Given the description of an element on the screen output the (x, y) to click on. 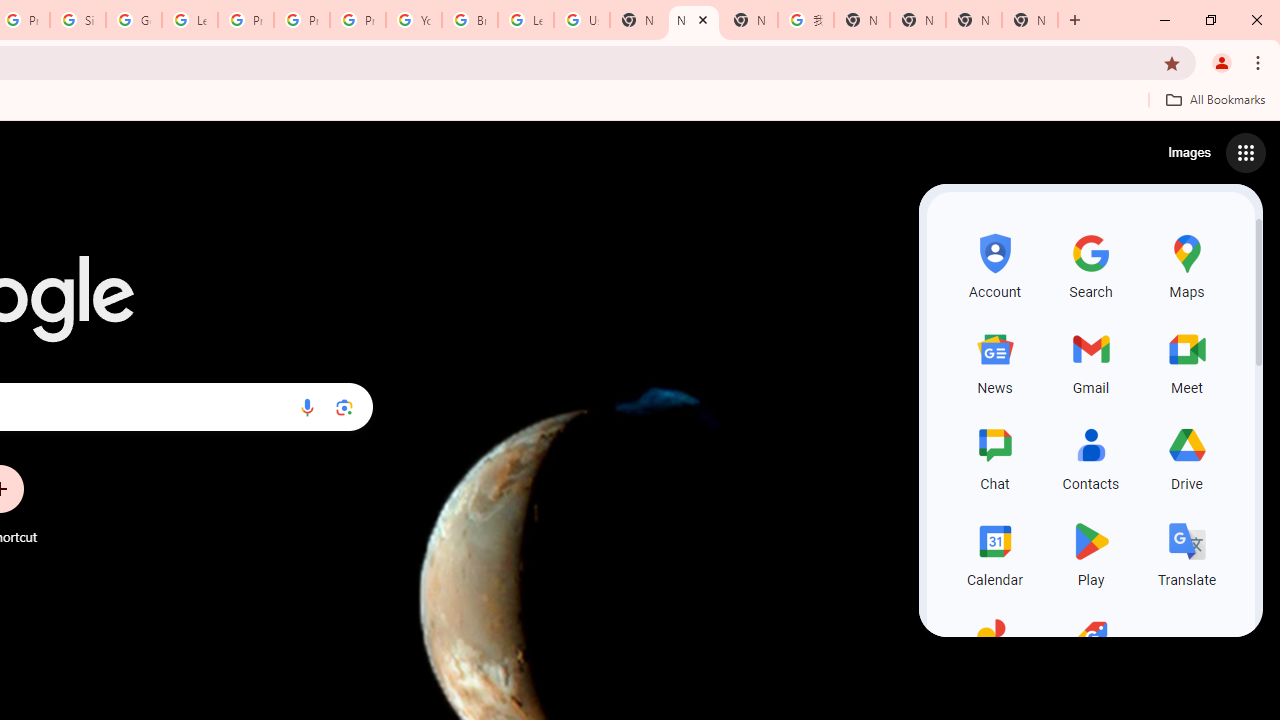
Shopping, row 5 of 5 and column 2 of 3 in the first section (1090, 647)
Contacts, row 3 of 5 and column 2 of 3 in the first section (1090, 455)
Maps, row 1 of 5 and column 3 of 3 in the first section (1186, 263)
Play, row 4 of 5 and column 2 of 3 in the first section (1090, 551)
Translate, row 4 of 5 and column 3 of 3 in the first section (1186, 551)
YouTube (413, 20)
Account, row 1 of 5 and column 1 of 3 in the first section (994, 263)
New Tab (1030, 20)
News, row 2 of 5 and column 1 of 3 in the first section (994, 359)
